Given the description of an element on the screen output the (x, y) to click on. 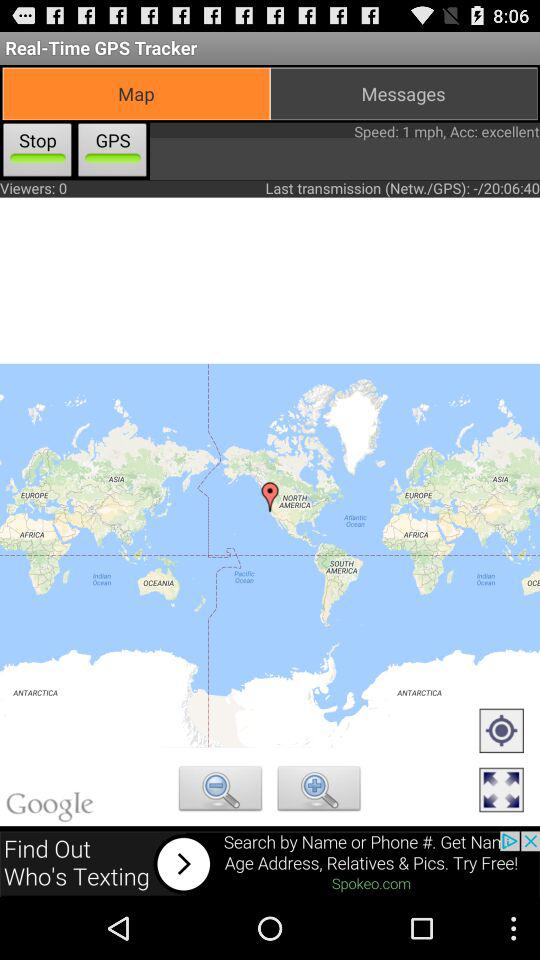
full screen (501, 791)
